Given the description of an element on the screen output the (x, y) to click on. 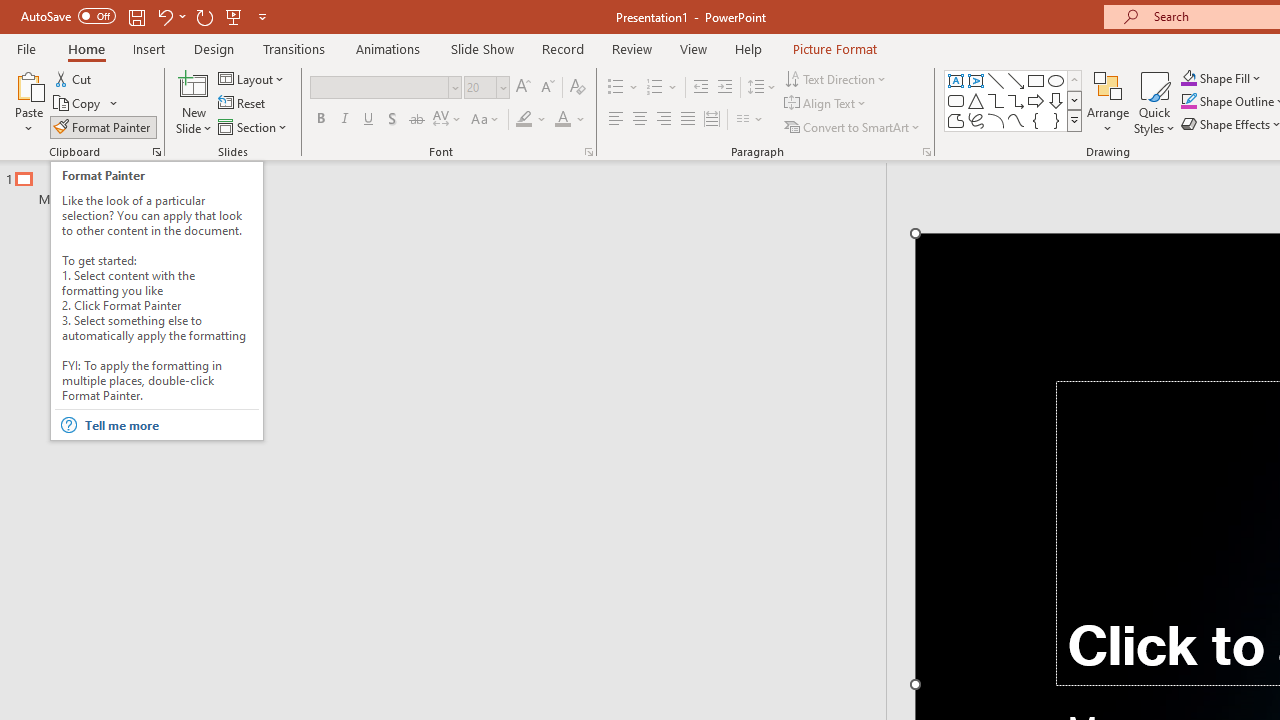
Picture Format (834, 48)
Left Brace (1035, 120)
Change Case (486, 119)
Paragraph... (926, 151)
Line Arrow (1016, 80)
Format Painter (103, 126)
Office Clipboard... (156, 151)
Reset (243, 103)
Freeform: Scribble (975, 120)
